Given the description of an element on the screen output the (x, y) to click on. 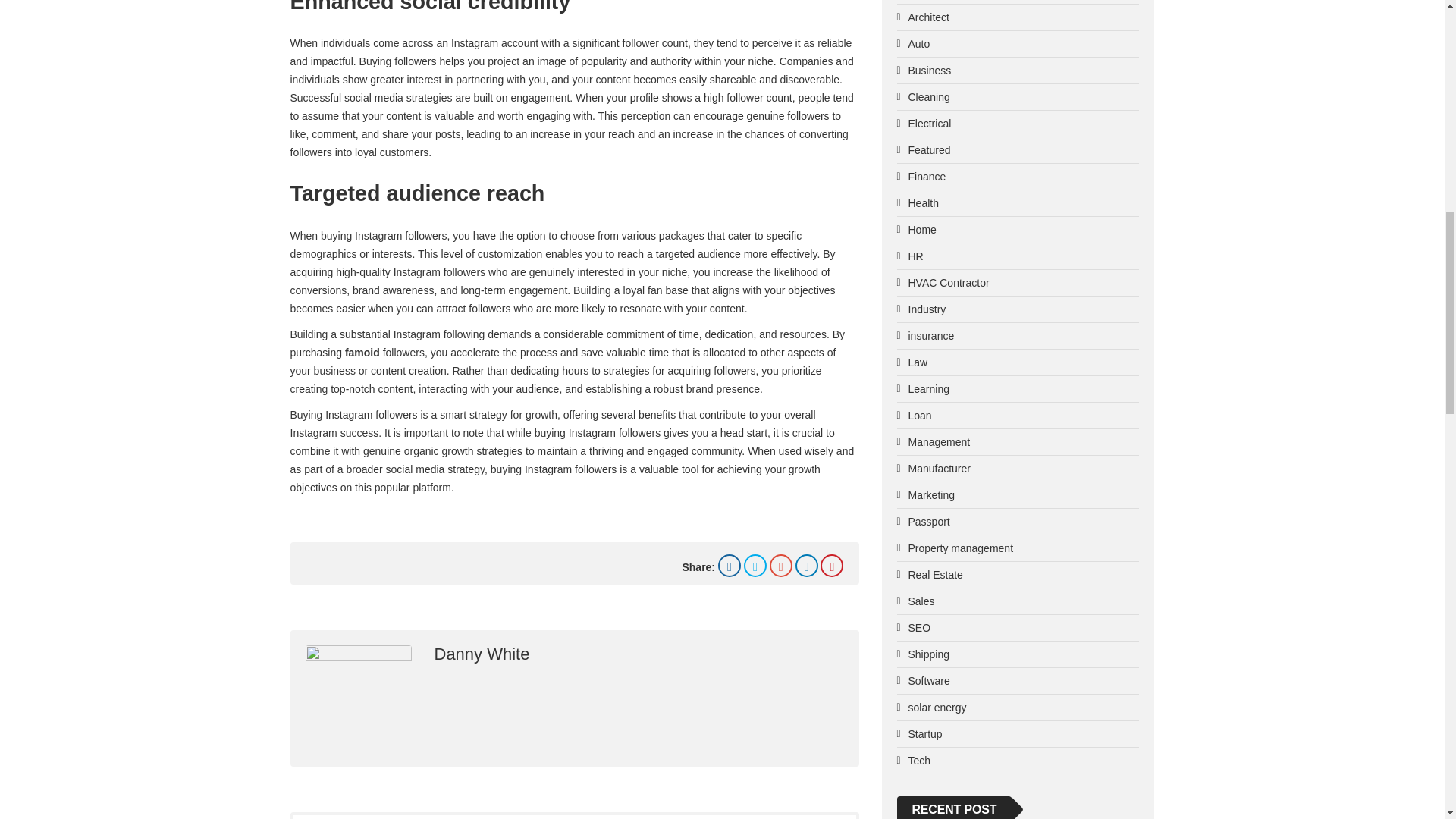
Twitter (755, 565)
Pinterest (832, 565)
famoid (362, 352)
Linkedin (806, 565)
Google Plus (781, 565)
Facebook (729, 565)
